Given the description of an element on the screen output the (x, y) to click on. 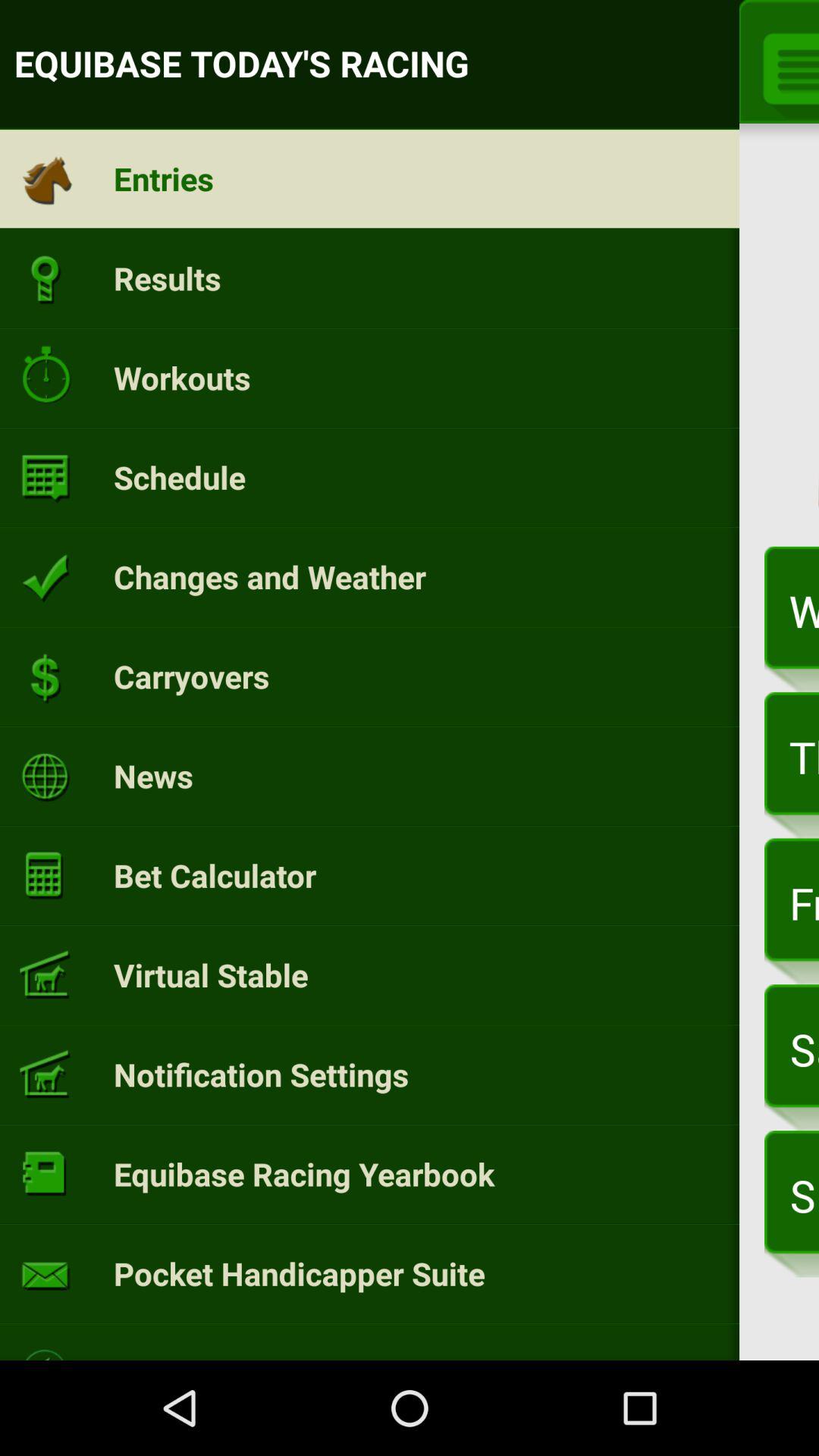
scroll to notification settings icon (260, 1073)
